Given the description of an element on the screen output the (x, y) to click on. 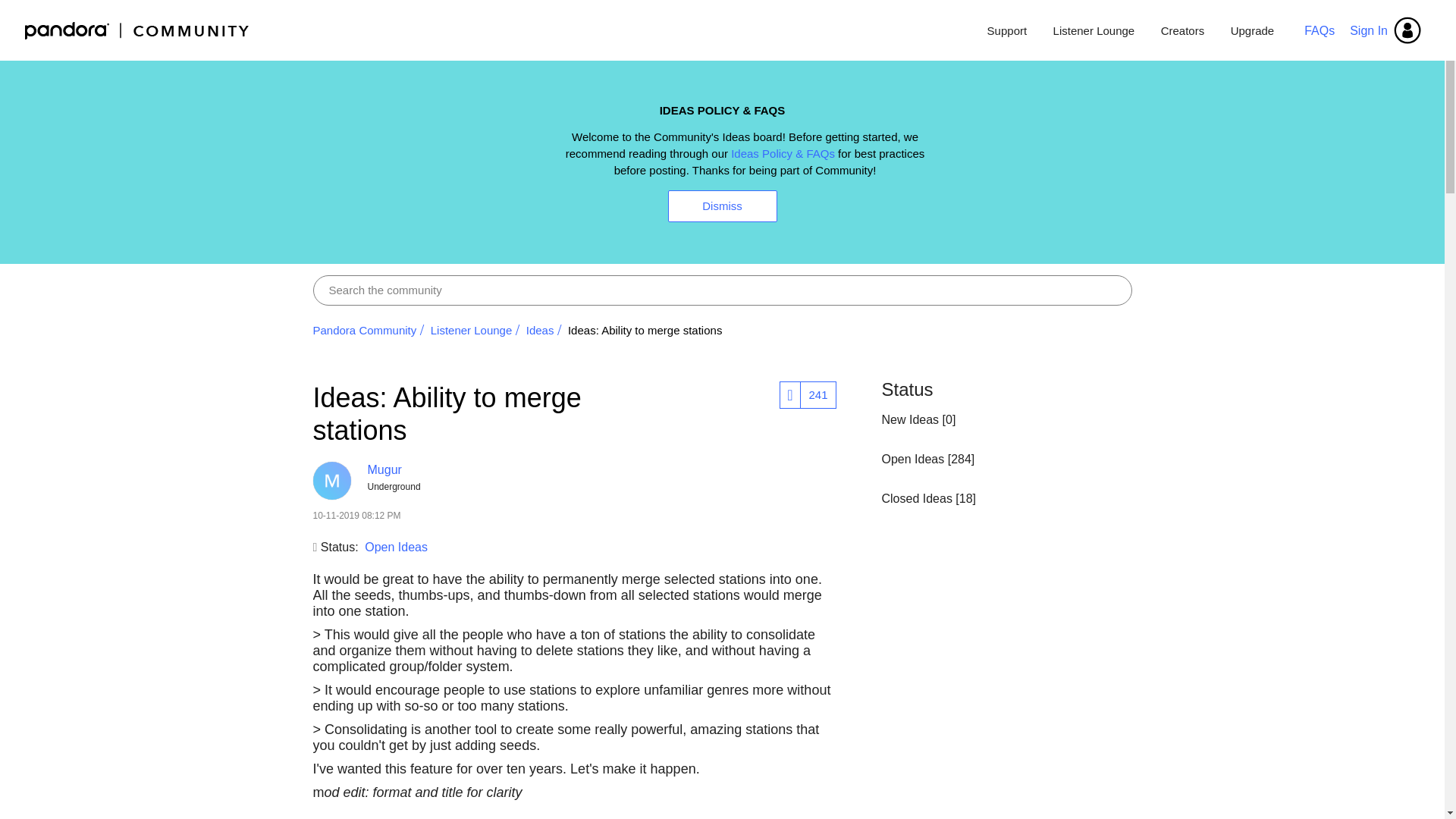
Upgrade (1247, 30)
Creators (1182, 30)
Posted on (497, 515)
Pandora Community (137, 29)
Search (722, 290)
Dismiss (721, 205)
Support (1007, 30)
Listener Lounge (1094, 30)
241 (816, 394)
Listener Lounge (471, 329)
